Given the description of an element on the screen output the (x, y) to click on. 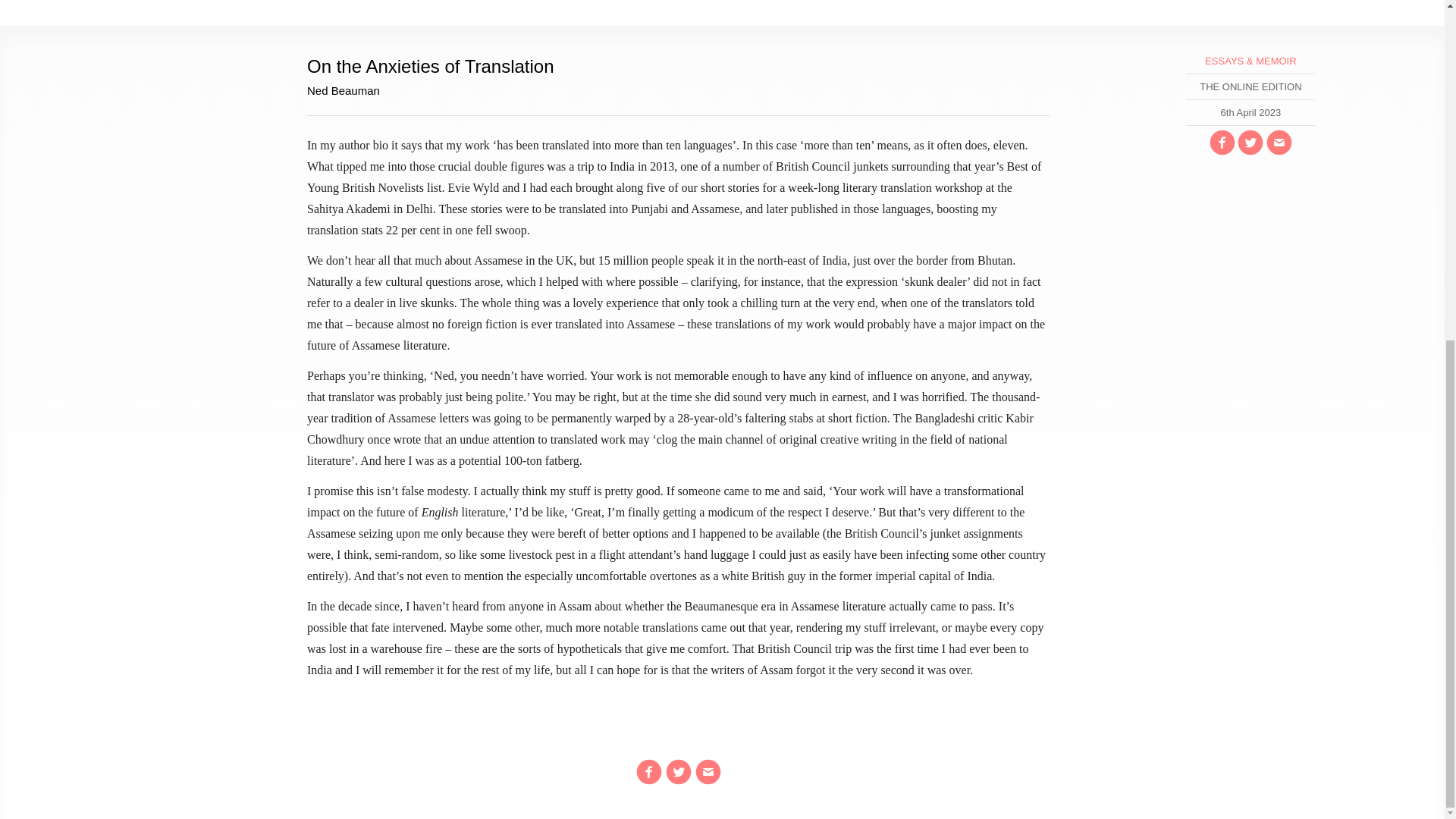
facebook-with-circle Created with Sketch. (1221, 142)
twitter-with-circle Created with Sketch. (678, 771)
mail-with-circle Created with Sketch. (707, 771)
facebook-with-circle Created with Sketch. (649, 771)
mail-with-circle Created with Sketch. (1279, 142)
twitter-with-circle Created with Sketch. (1250, 142)
